Given the description of an element on the screen output the (x, y) to click on. 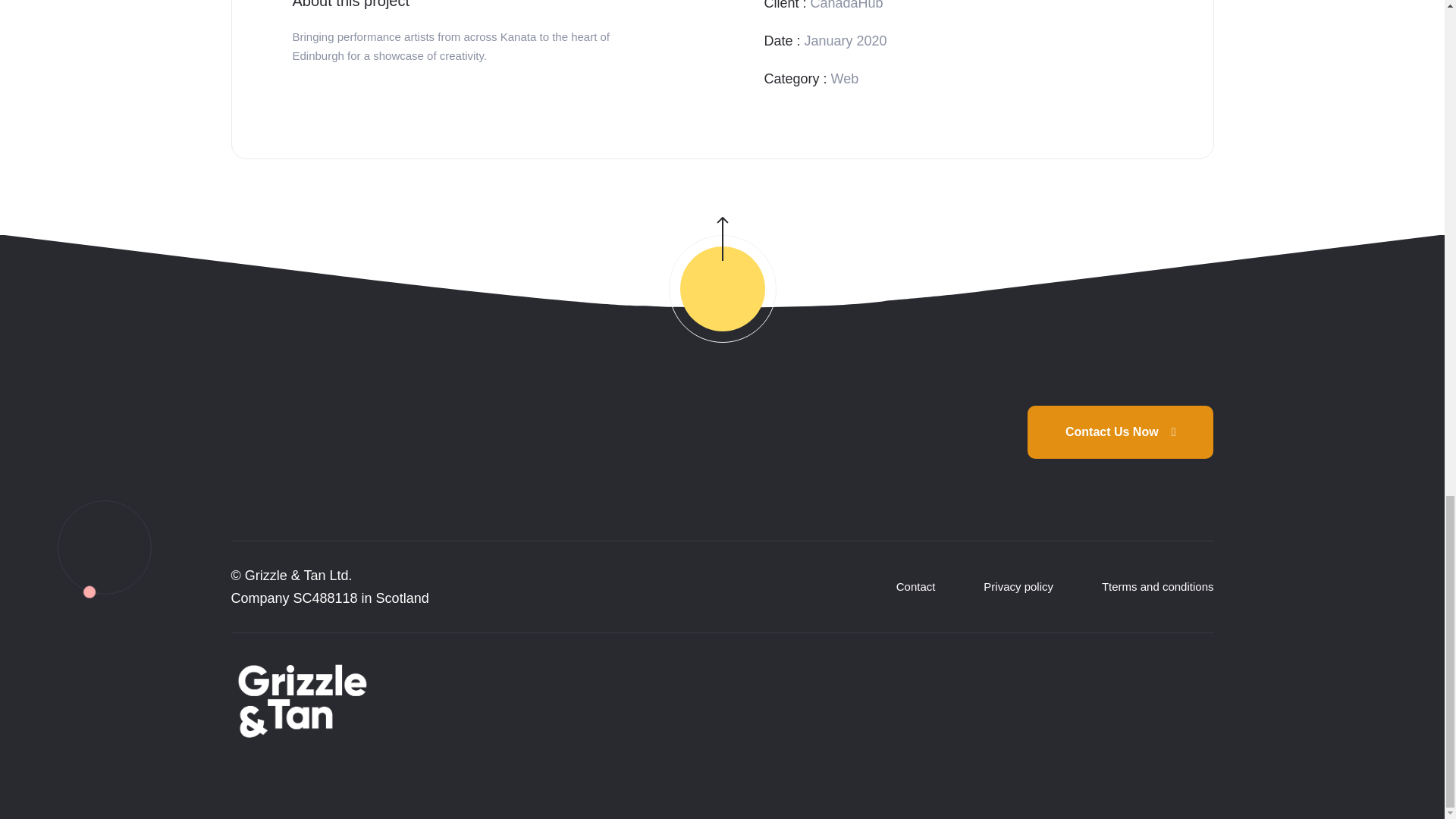
Contact (916, 585)
Privacy policy (1018, 585)
Contact Us Now (1120, 431)
Tterms and conditions (1158, 585)
